Given the description of an element on the screen output the (x, y) to click on. 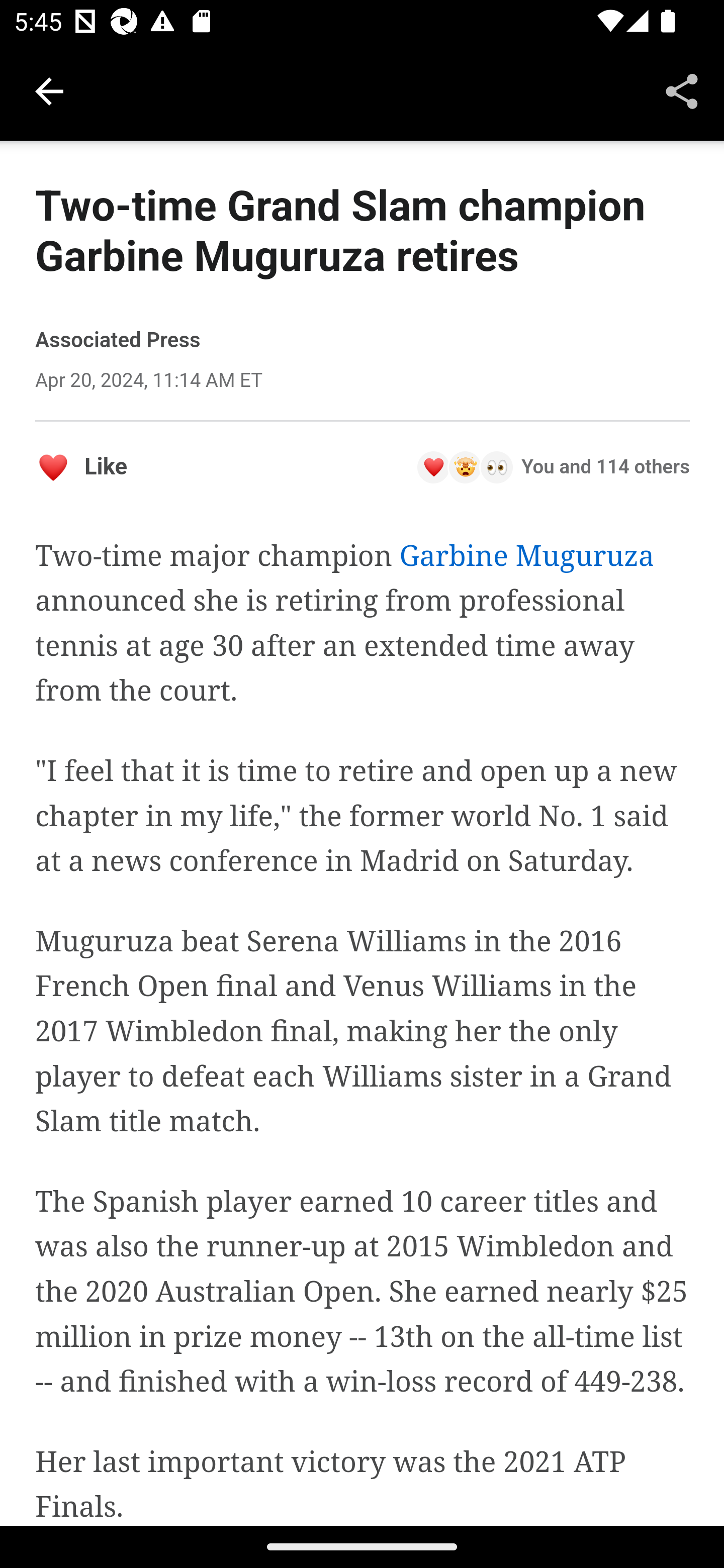
Navigate up (49, 91)
Share (681, 90)
Like (81, 466)
Reaction count (553, 466)
Garbine Muguruza (526, 555)
